Given the description of an element on the screen output the (x, y) to click on. 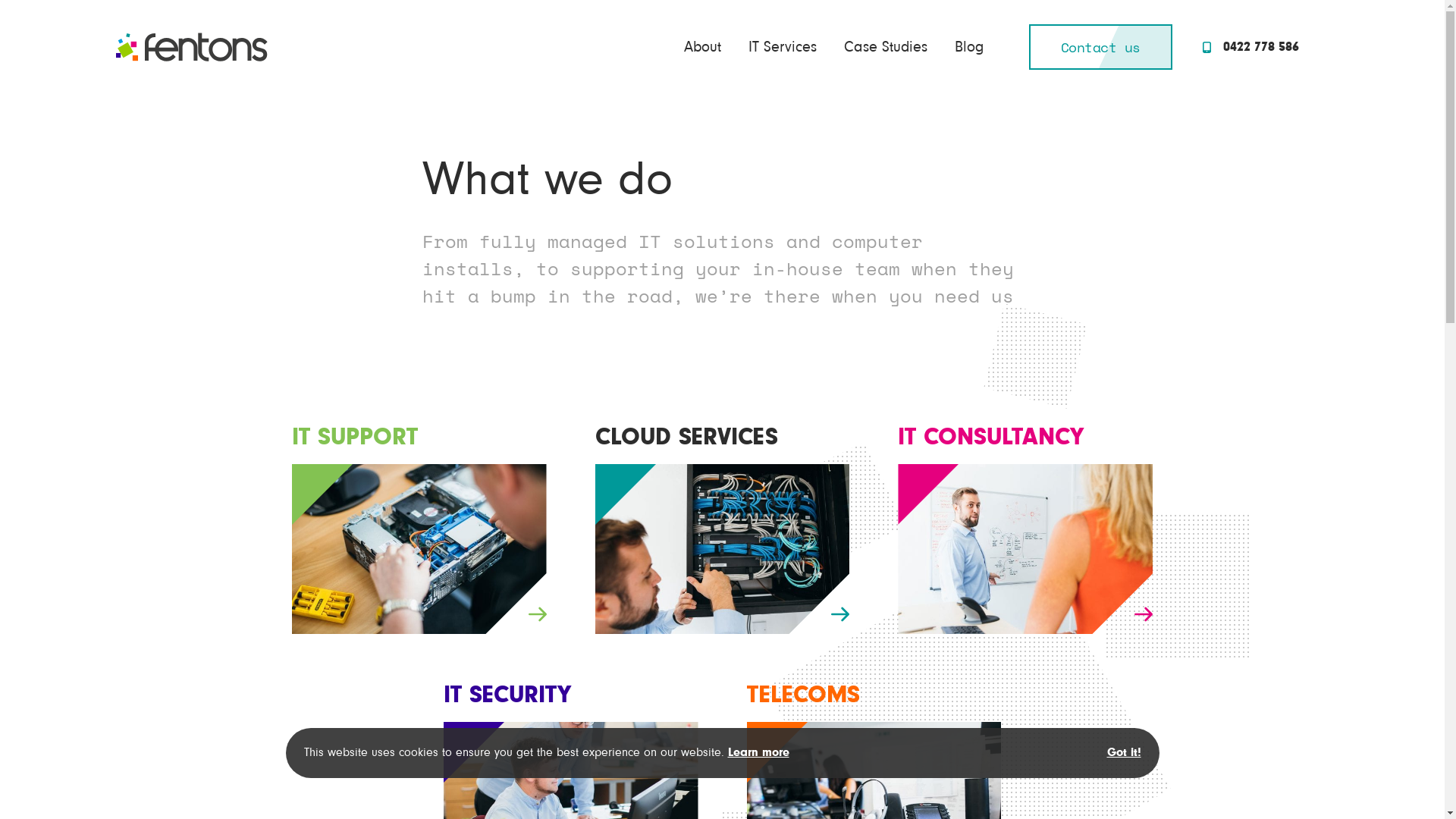
Got it! Element type: text (1124, 752)
About Element type: text (702, 46)
Case Studies Element type: text (884, 46)
Learn more Element type: text (758, 752)
0422 778 586 Element type: text (1250, 46)
Blog Element type: text (967, 46)
IT CONSULTANCY Element type: text (1024, 528)
IT SUPPORT Element type: text (418, 528)
IT Services Element type: text (781, 46)
Contact us Element type: text (1099, 46)
CLOUD SERVICES Element type: text (721, 528)
